Given the description of an element on the screen output the (x, y) to click on. 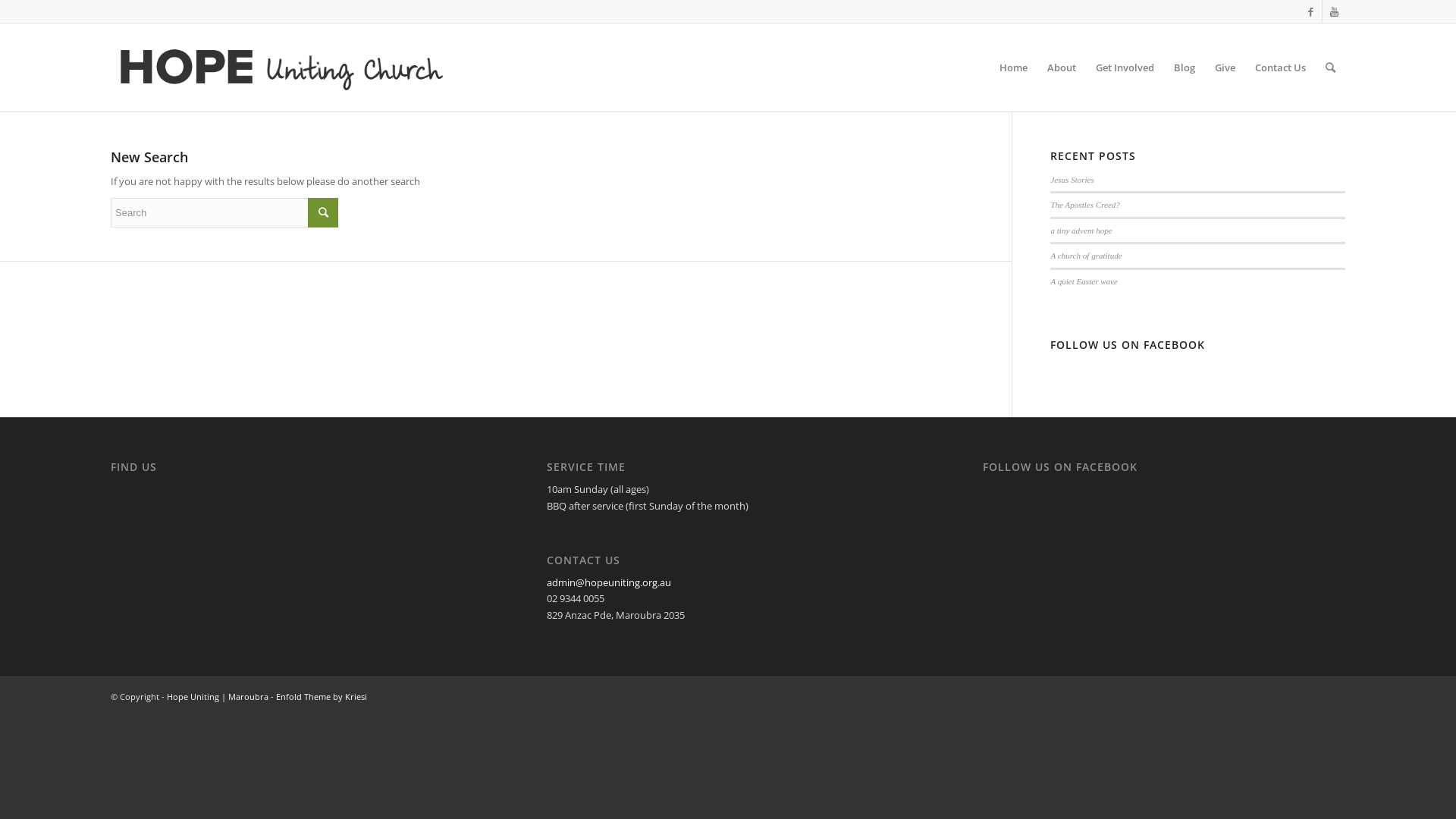
Facebook Element type: hover (1310, 11)
Blog Element type: text (1184, 67)
Get Involved Element type: text (1124, 67)
A church of gratitude Element type: text (1085, 255)
admin@hopeuniting.org.au Element type: text (608, 582)
Hope Uniting | Maroubra Element type: text (217, 696)
About Element type: text (1061, 67)
Home Element type: text (1013, 67)
Youtube Element type: hover (1333, 11)
A quiet Easter wave Element type: text (1083, 280)
The Apostles Creed? Element type: text (1084, 204)
Jesus Stories Element type: text (1071, 179)
Contact Us Element type: text (1280, 67)
Enfold Theme by Kriesi Element type: text (321, 696)
a tiny advent hope Element type: text (1080, 230)
Give Element type: text (1224, 67)
